Given the description of an element on the screen output the (x, y) to click on. 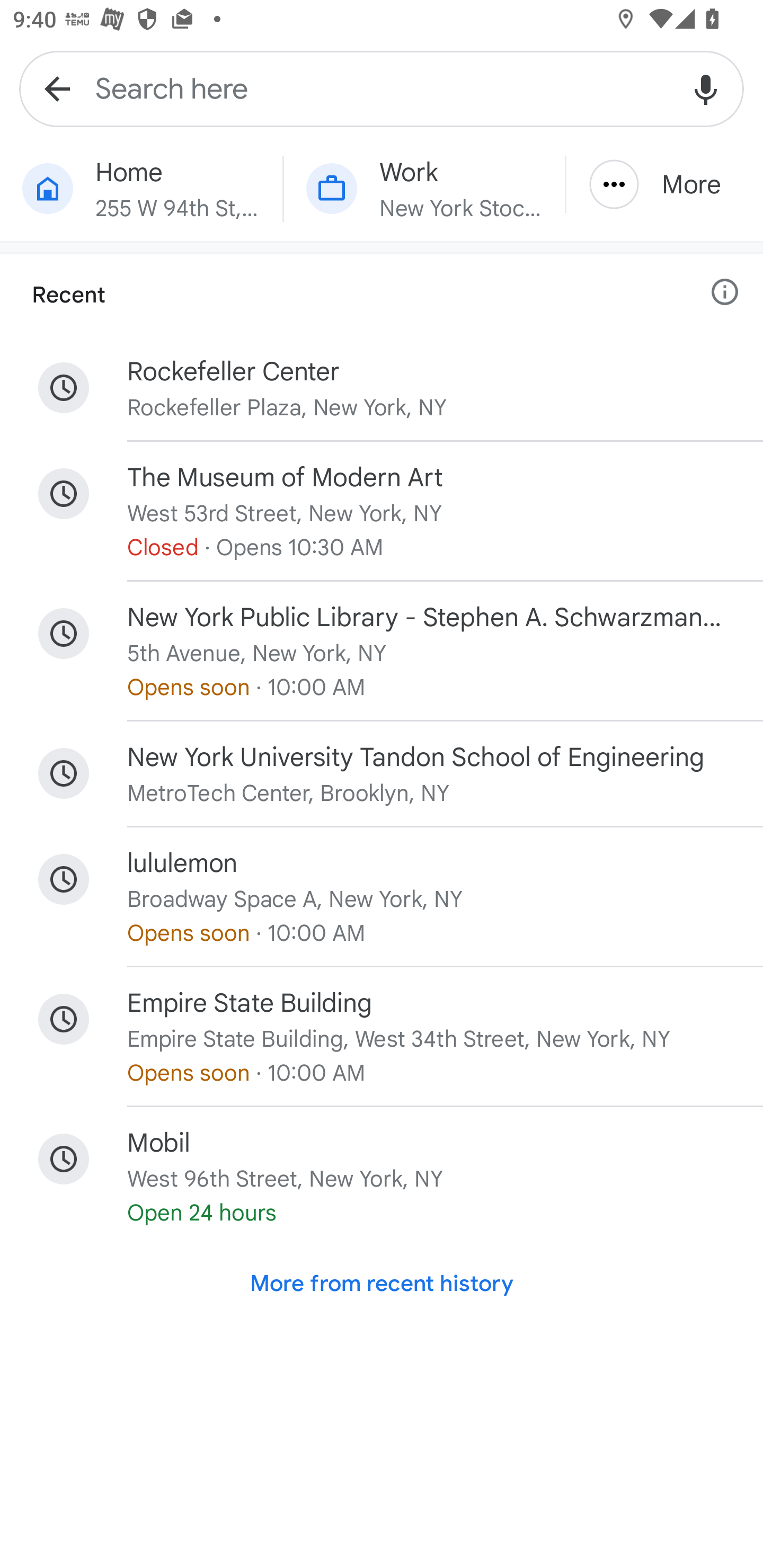
Navigate up (57, 88)
Search here (381, 88)
Voice search (705, 88)
More (664, 184)
Rockefeller Center Rockefeller Plaza, New York, NY (381, 387)
Mobil West 96th Street, New York, NY Open 24 hours (381, 1175)
More from recent history (381, 1282)
